Given the description of an element on the screen output the (x, y) to click on. 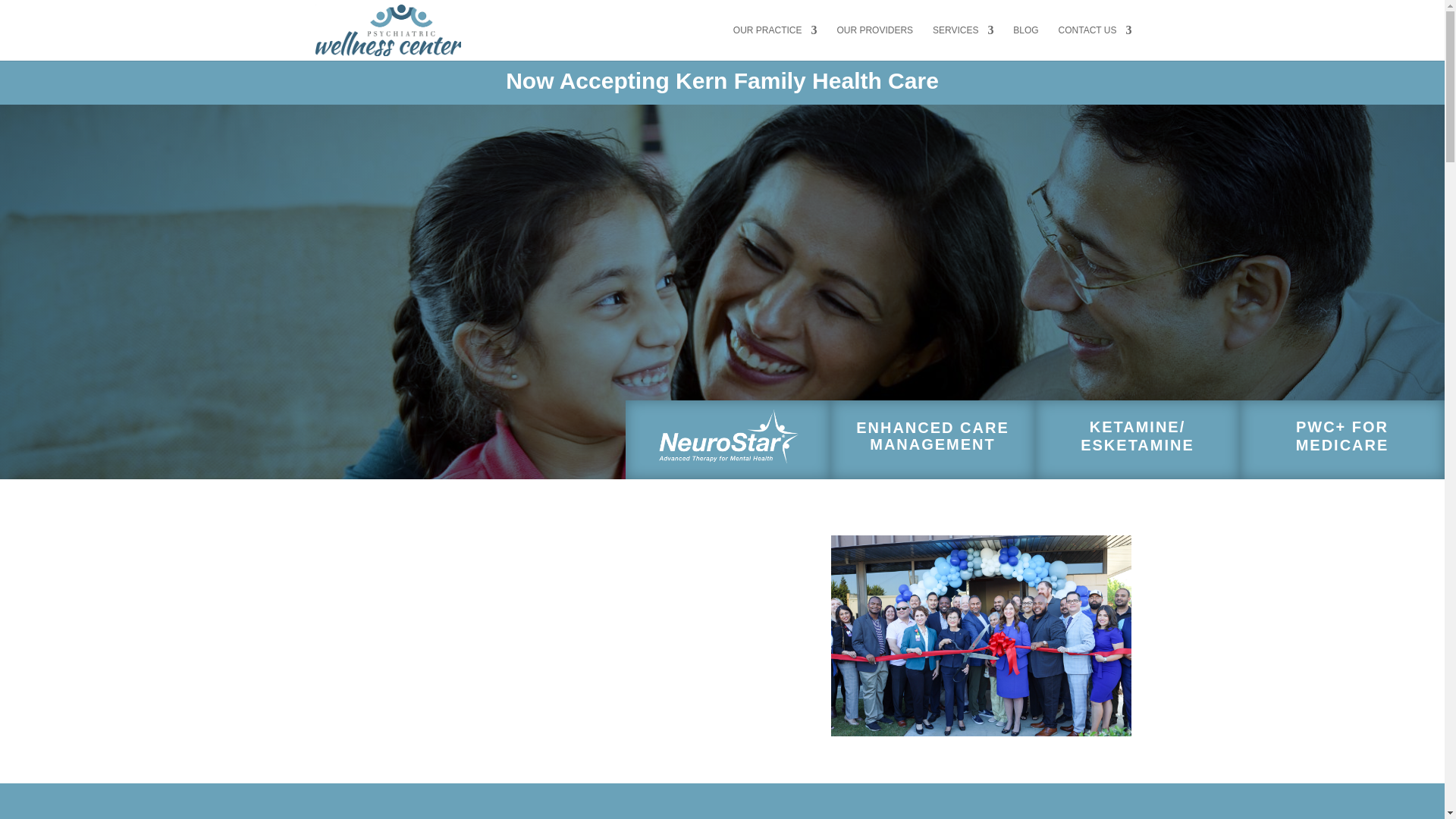
OUR PROVIDERS (873, 42)
OUR PRACTICE (774, 42)
SERVICES (962, 42)
CONTACT US (1095, 42)
